Given the description of an element on the screen output the (x, y) to click on. 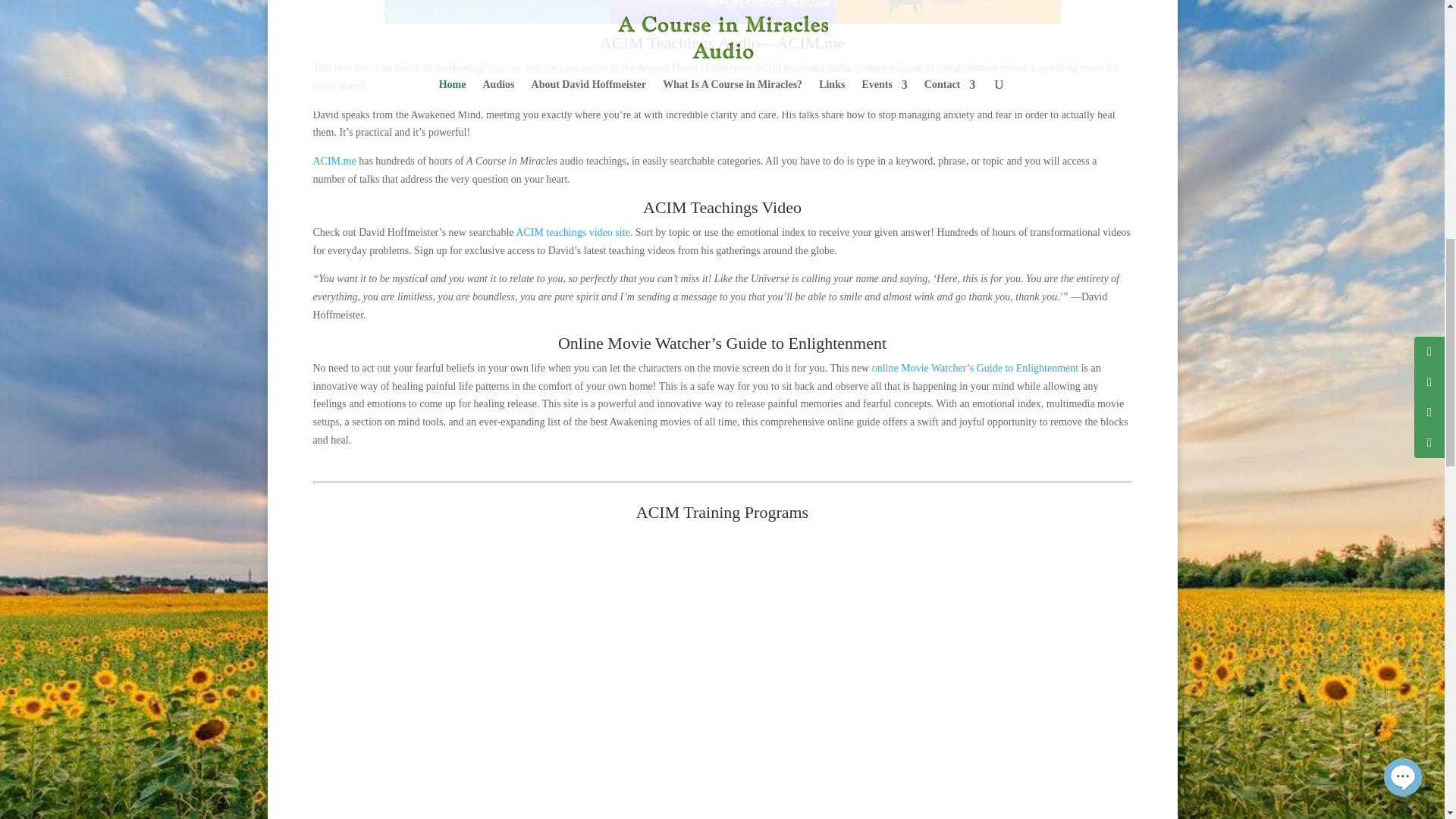
ACIM Teachings - Audio, Video, Movies (721, 12)
ACIM.me (334, 161)
ACIM teachings video site (571, 232)
Sign up now (514, 67)
